Given the description of an element on the screen output the (x, y) to click on. 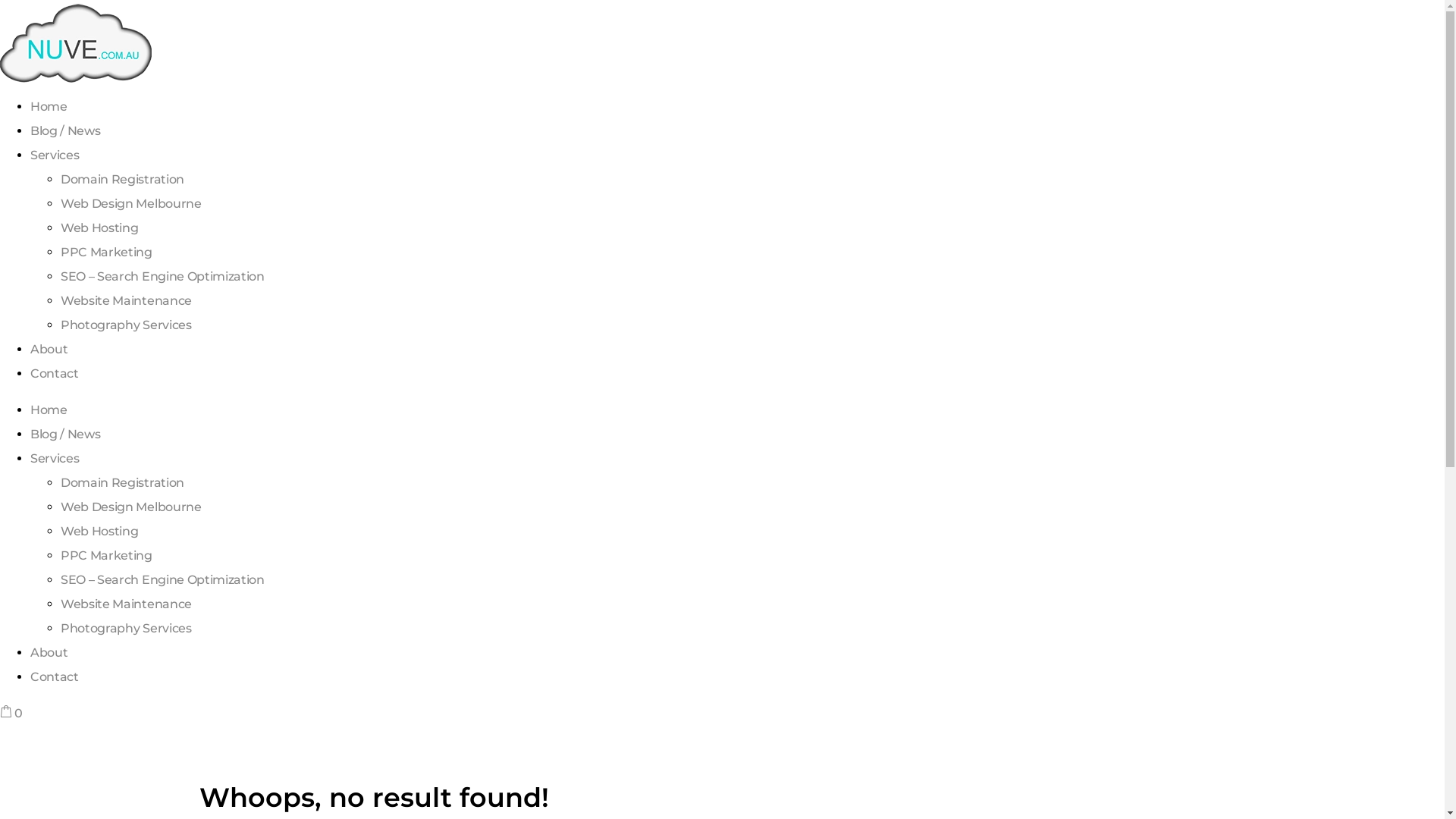
PPC Marketing Element type: text (106, 555)
0 Element type: text (11, 713)
Home Element type: text (48, 106)
PPC Marketing Element type: text (106, 251)
Contact Element type: text (54, 676)
Blog / News Element type: text (65, 433)
Domain Registration Element type: text (122, 482)
Website Maintenance Element type: text (125, 300)
About Element type: text (48, 652)
Contact Element type: text (54, 373)
Blog / News Element type: text (65, 130)
Web Hosting Element type: text (99, 227)
Web Hosting Element type: text (99, 531)
Web Design Melbourne Element type: text (130, 506)
About Element type: text (48, 349)
Website Maintenance Element type: text (125, 603)
Services Element type: text (54, 154)
Photography Services Element type: text (125, 324)
Photography Services Element type: text (125, 628)
Domain Registration Element type: text (122, 179)
Home Element type: text (48, 409)
Services Element type: text (54, 458)
Web Design Melbourne Element type: text (130, 203)
